Given the description of an element on the screen output the (x, y) to click on. 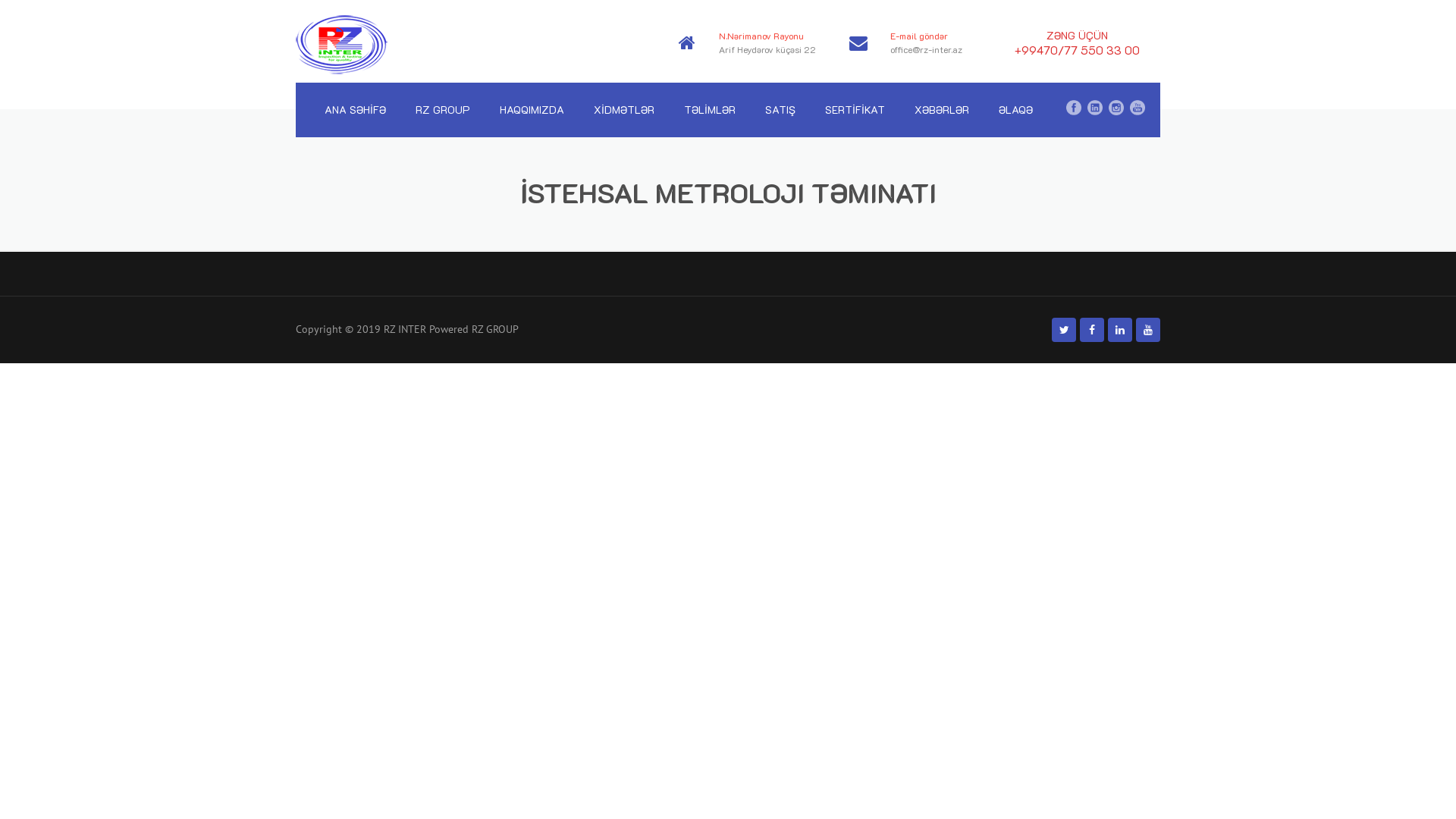
HAQQIMIZDA Element type: text (531, 109)
RZ GROUP Element type: text (442, 109)
